Given the description of an element on the screen output the (x, y) to click on. 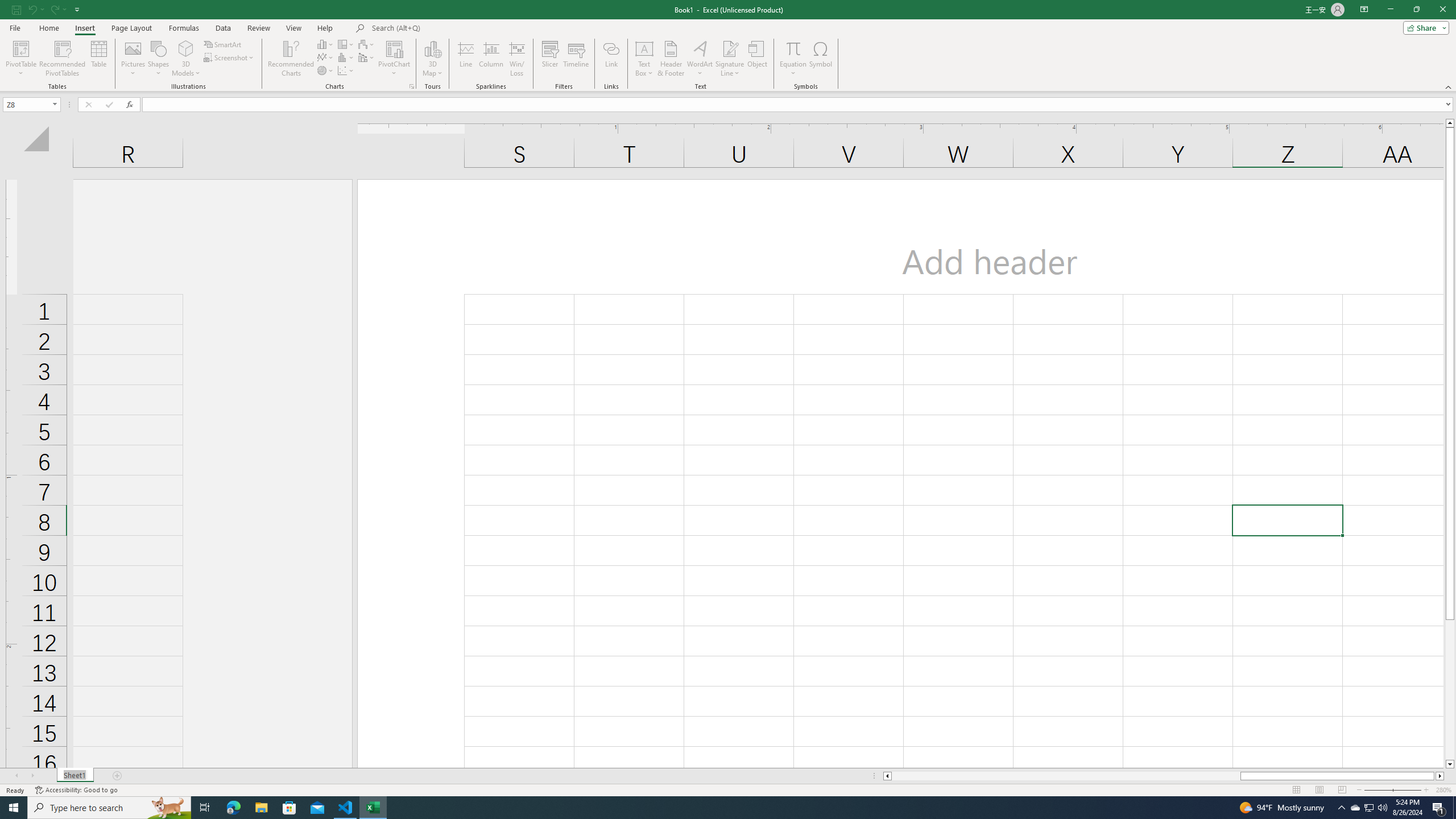
3D Models (186, 48)
Slicer... (550, 58)
WordArt (699, 58)
Symbol... (821, 58)
3D Map (432, 58)
Recommended Charts (411, 85)
Insert Line or Area Chart (325, 56)
Recommended PivotTables (62, 58)
